Given the description of an element on the screen output the (x, y) to click on. 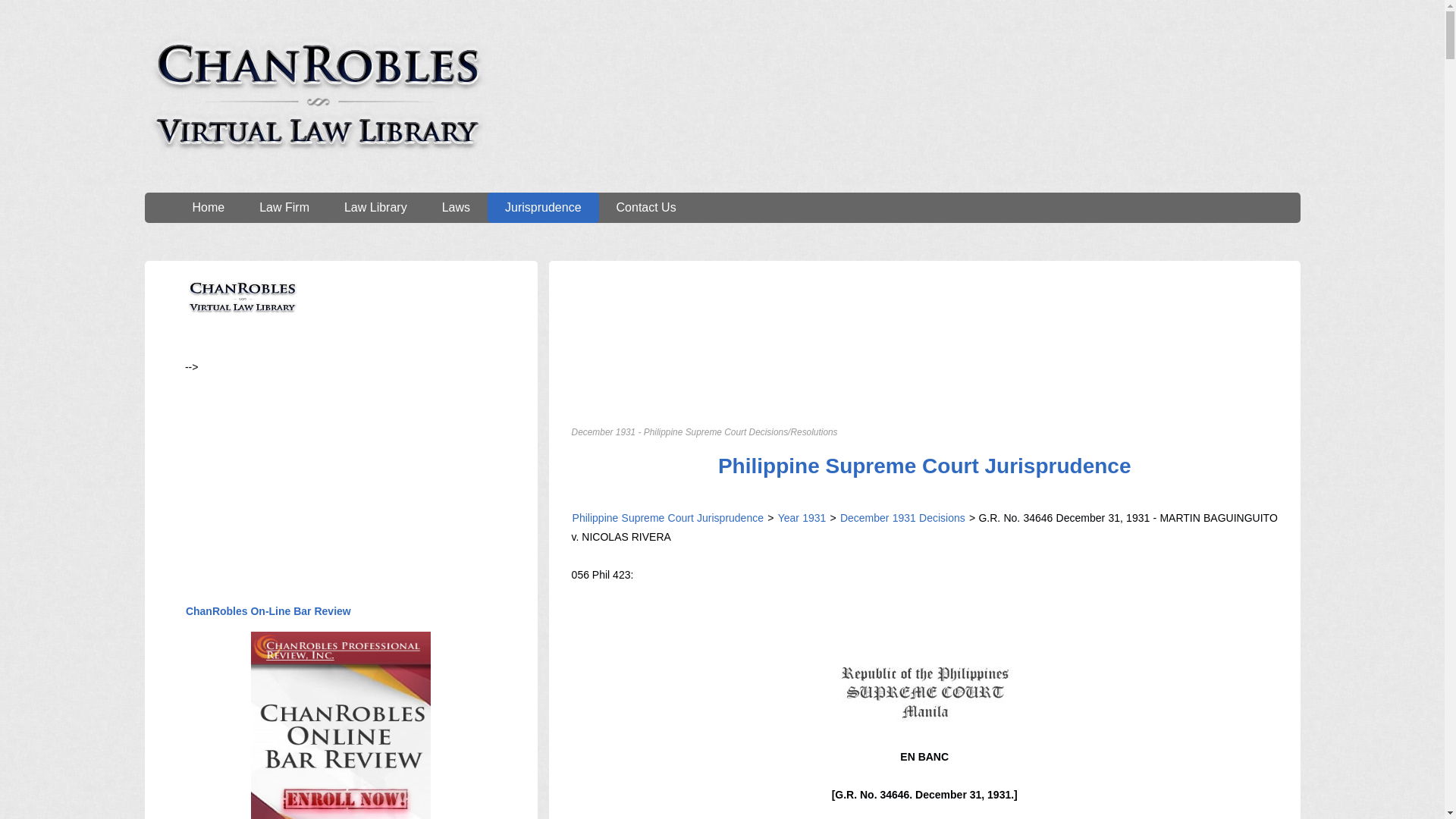
December 1931 Decisions (900, 517)
Law Firm (283, 207)
Philippine Supreme Court Jurisprudence (668, 517)
Contact Us (646, 207)
Year 1931 (802, 517)
Law Library (375, 207)
Philippine Supreme Court Jurisprudence (924, 465)
Laws (456, 207)
Jurisprudence (542, 207)
Home (207, 207)
ChanRobles On-Line Bar Review (268, 611)
